Given the description of an element on the screen output the (x, y) to click on. 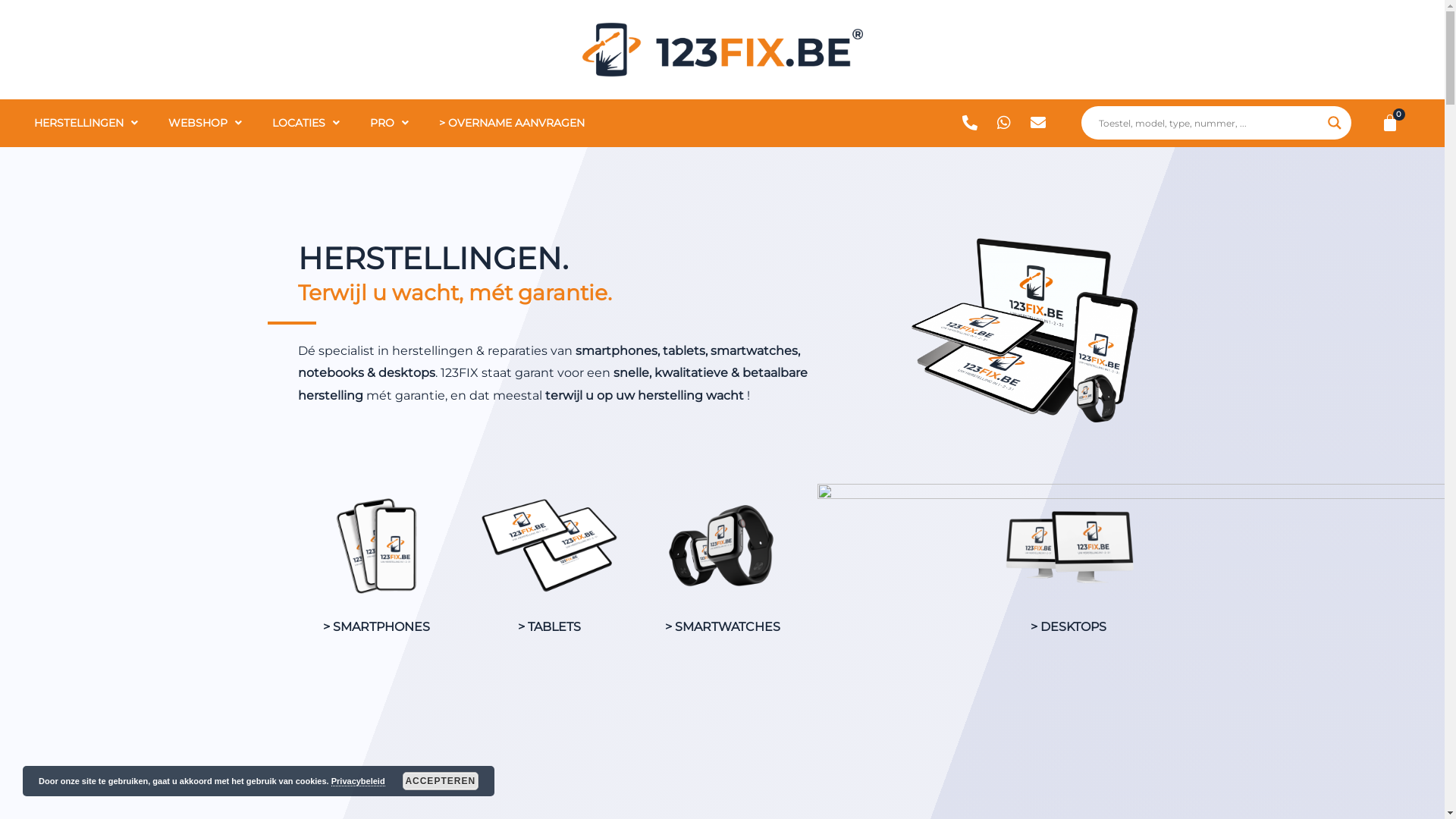
Envelope Element type: text (1037, 122)
Privacybeleid Element type: text (358, 781)
ACCEPTEREN Element type: text (440, 780)
WINKELWAGEN Element type: text (1390, 122)
WEBSHOP Element type: text (205, 122)
> OVERNAME AANVRAGEN Element type: text (511, 122)
HERSTELLINGEN Element type: text (85, 122)
Whatsapp Element type: text (1003, 122)
PRO Element type: text (388, 122)
Phone-alt Element type: text (968, 122)
LOCATIES Element type: text (305, 122)
